Given the description of an element on the screen output the (x, y) to click on. 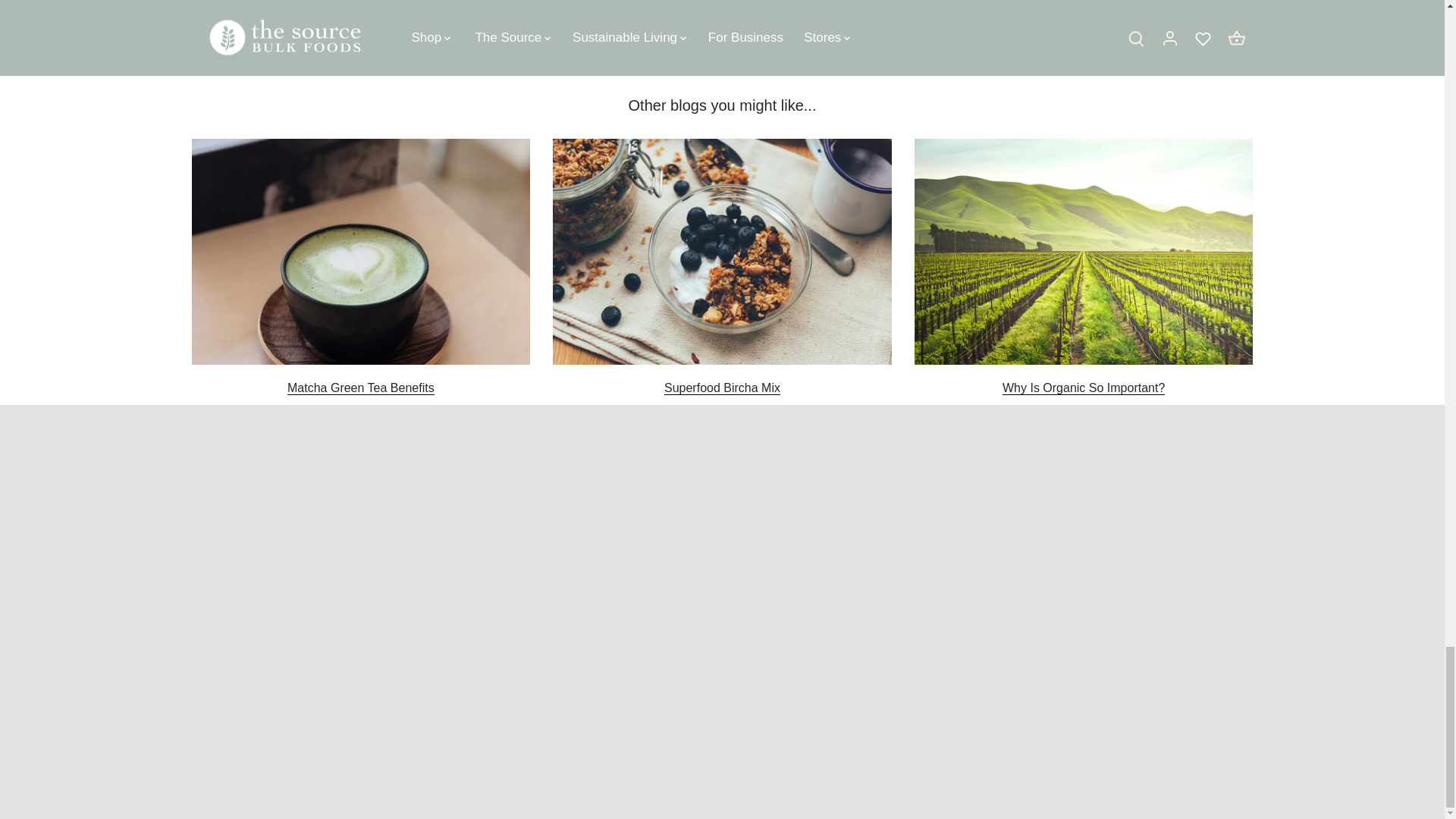
Pinterest (617, 26)
Facebook (597, 26)
